Given the description of an element on the screen output the (x, y) to click on. 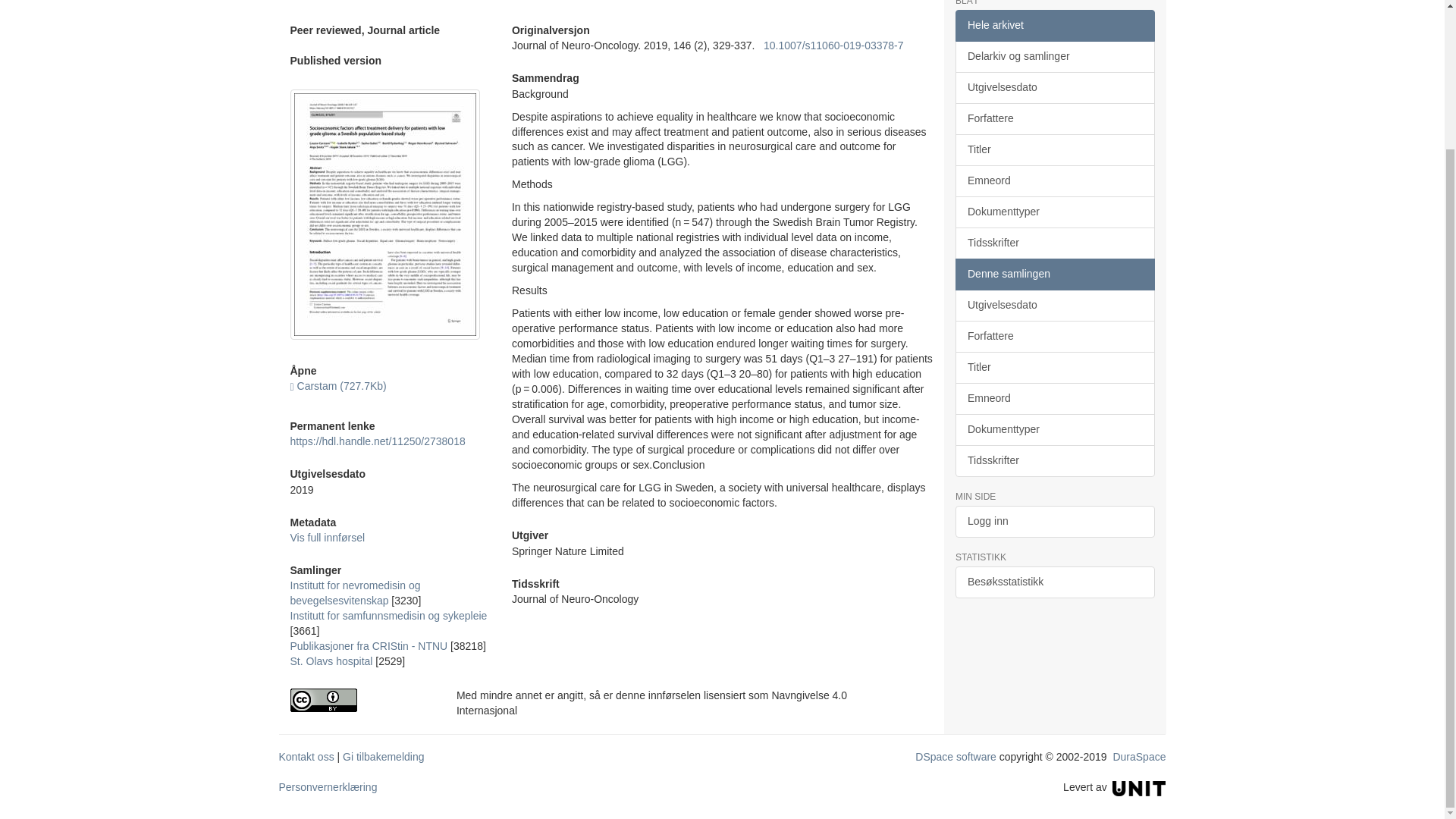
St. Olavs hospital (330, 661)
Navngivelse 4.0 Internasjonal (360, 699)
Institutt for samfunnsmedisin og sykepleie (387, 615)
Publikasjoner fra CRIStin - NTNU (367, 645)
Unit (1139, 787)
Institutt for nevromedisin og bevegelsesvitenskap (354, 592)
